Given the description of an element on the screen output the (x, y) to click on. 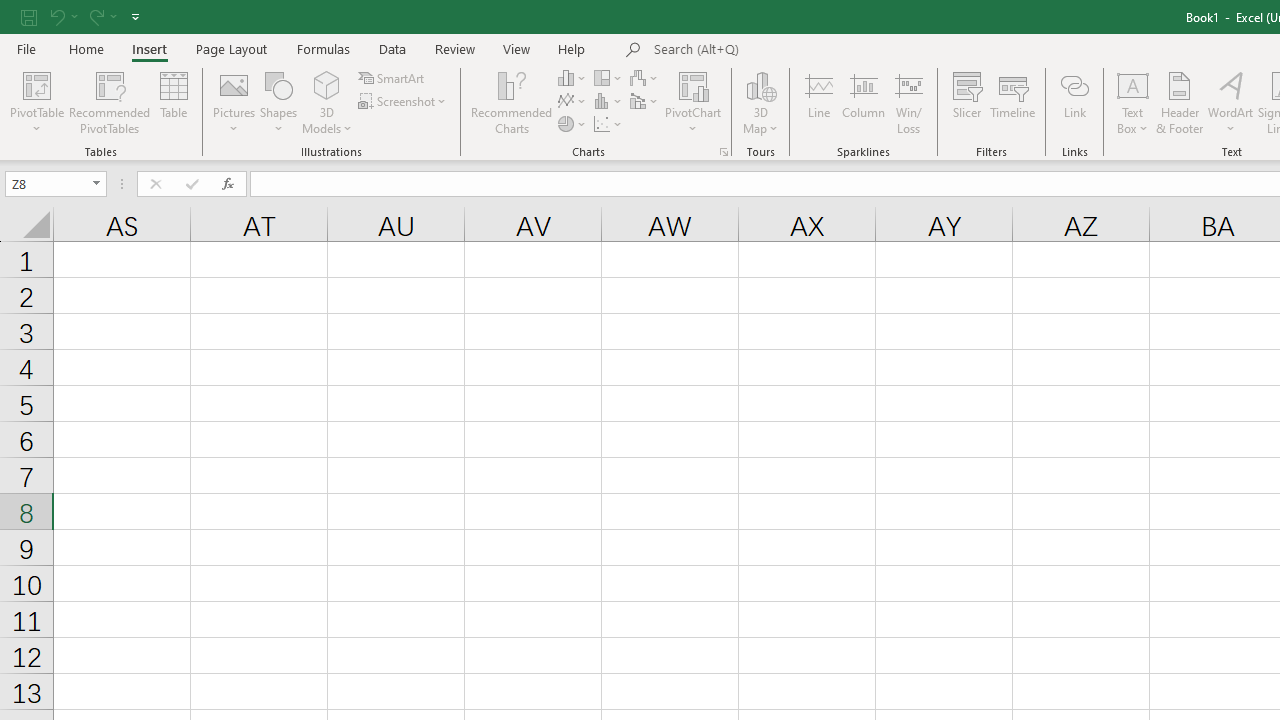
Insert Pie or Doughnut Chart (573, 124)
Insert Waterfall, Funnel, Stock, Surface, or Radar Chart (645, 78)
Insert Column or Bar Chart (573, 78)
Line (818, 102)
Formulas (323, 48)
3D Map (760, 102)
File Tab (26, 48)
Review (454, 48)
Column (863, 102)
